Given the description of an element on the screen output the (x, y) to click on. 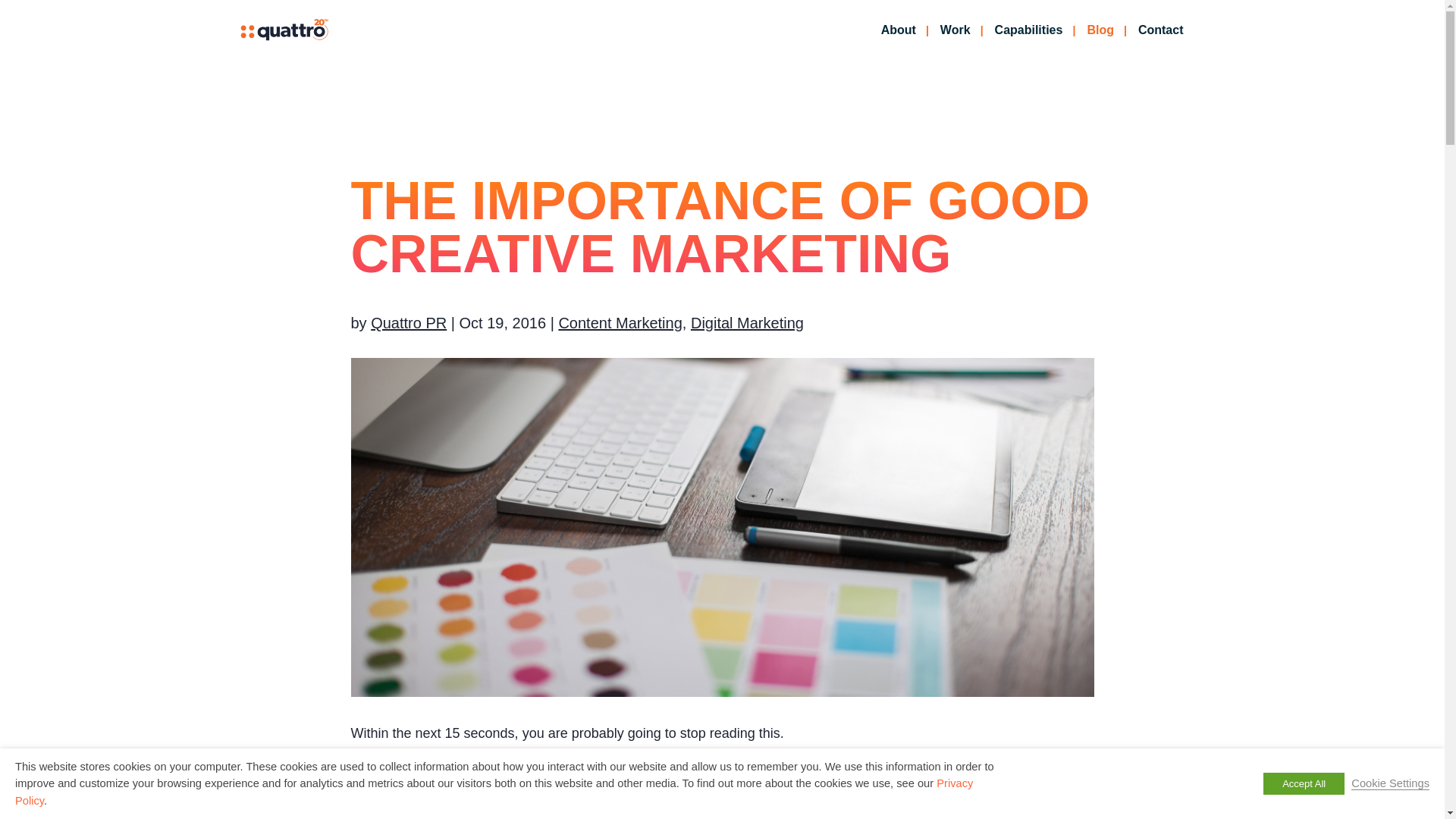
Quattro PR (408, 322)
Posts by Quattro PR (408, 322)
Contact (1160, 42)
Capabilities (1028, 42)
Digital Marketing (746, 322)
About (897, 42)
Content Marketing (619, 322)
